Given the description of an element on the screen output the (x, y) to click on. 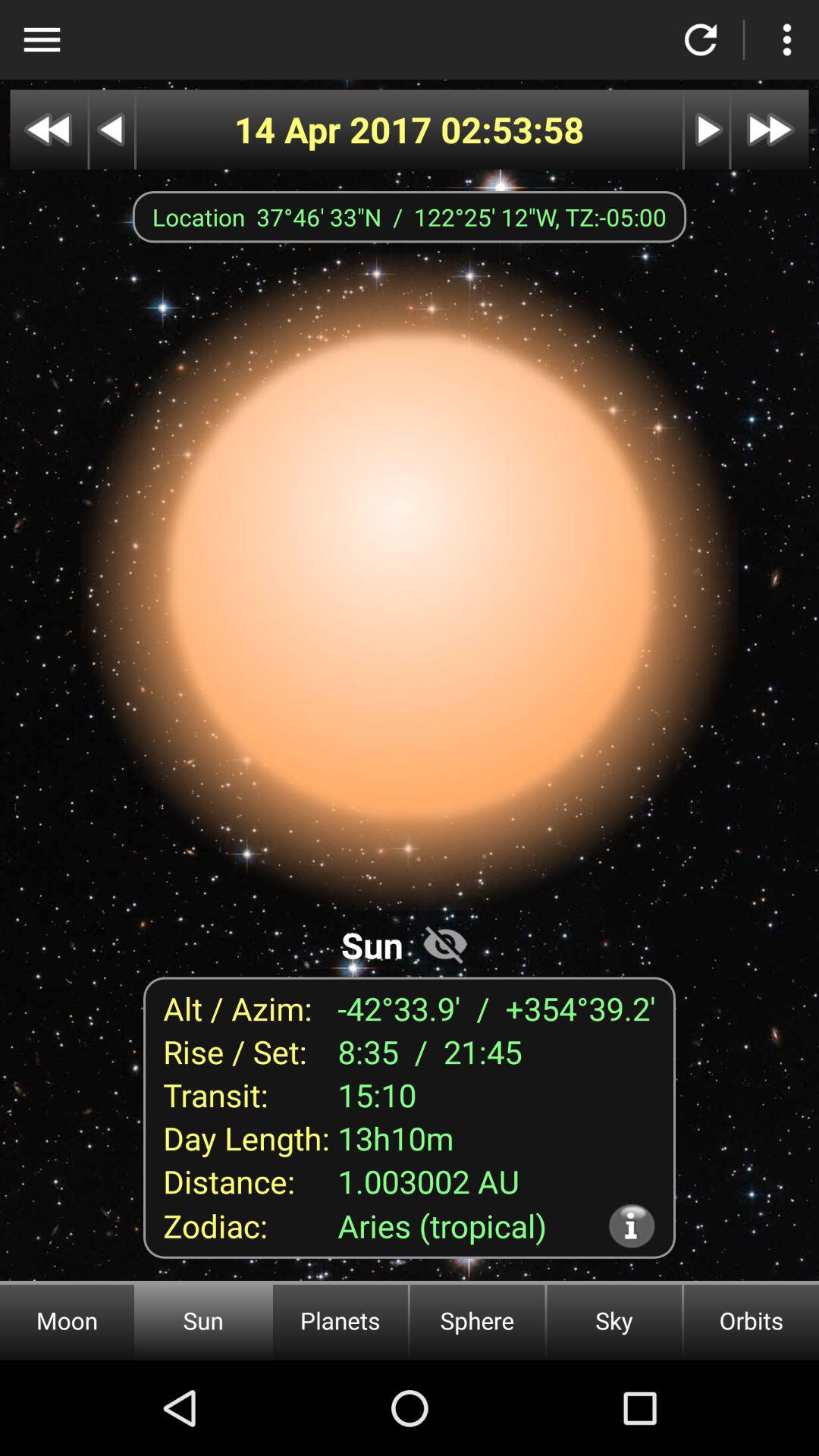
next day (706, 129)
